Given the description of an element on the screen output the (x, y) to click on. 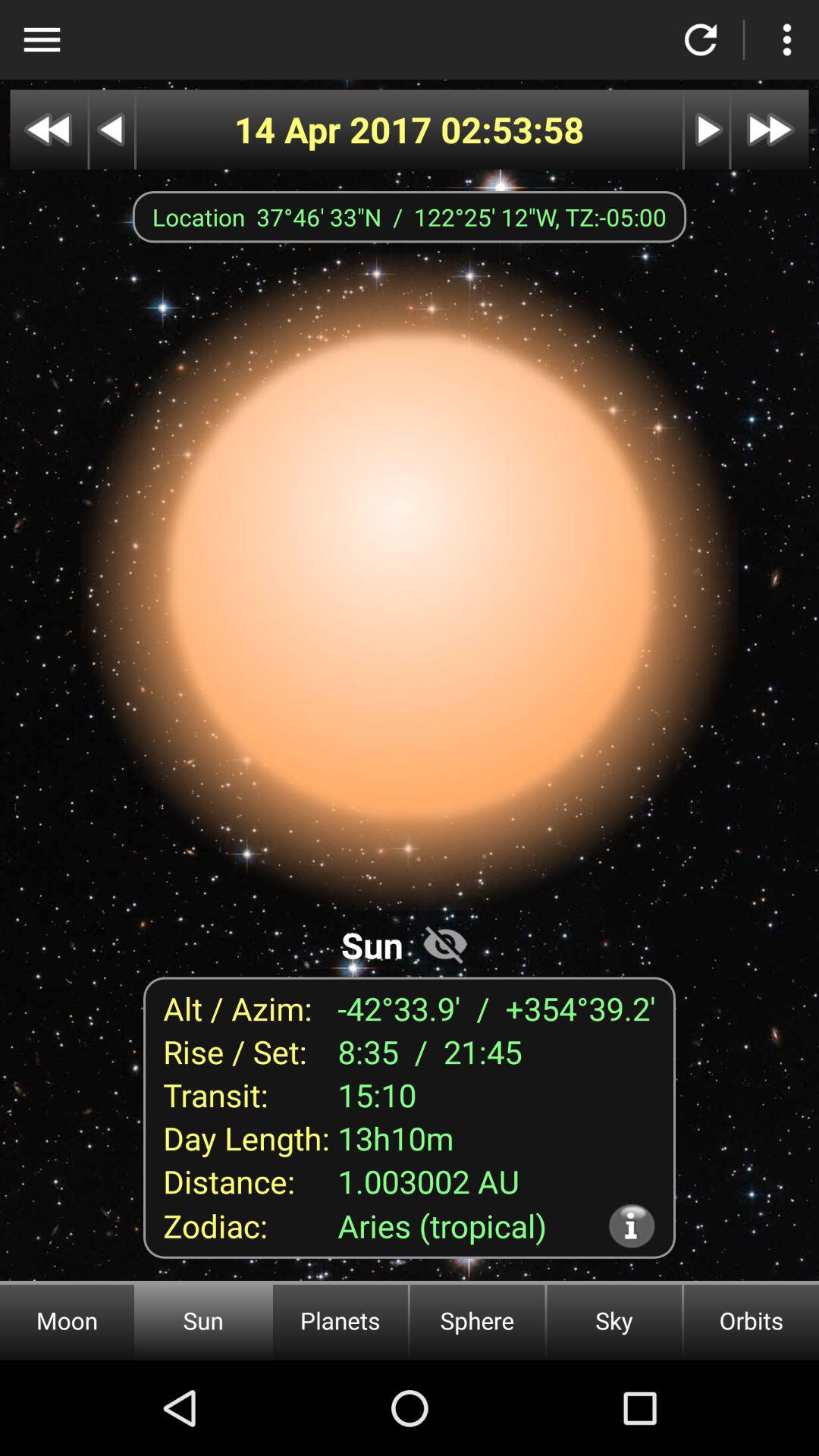
next day (706, 129)
